Given the description of an element on the screen output the (x, y) to click on. 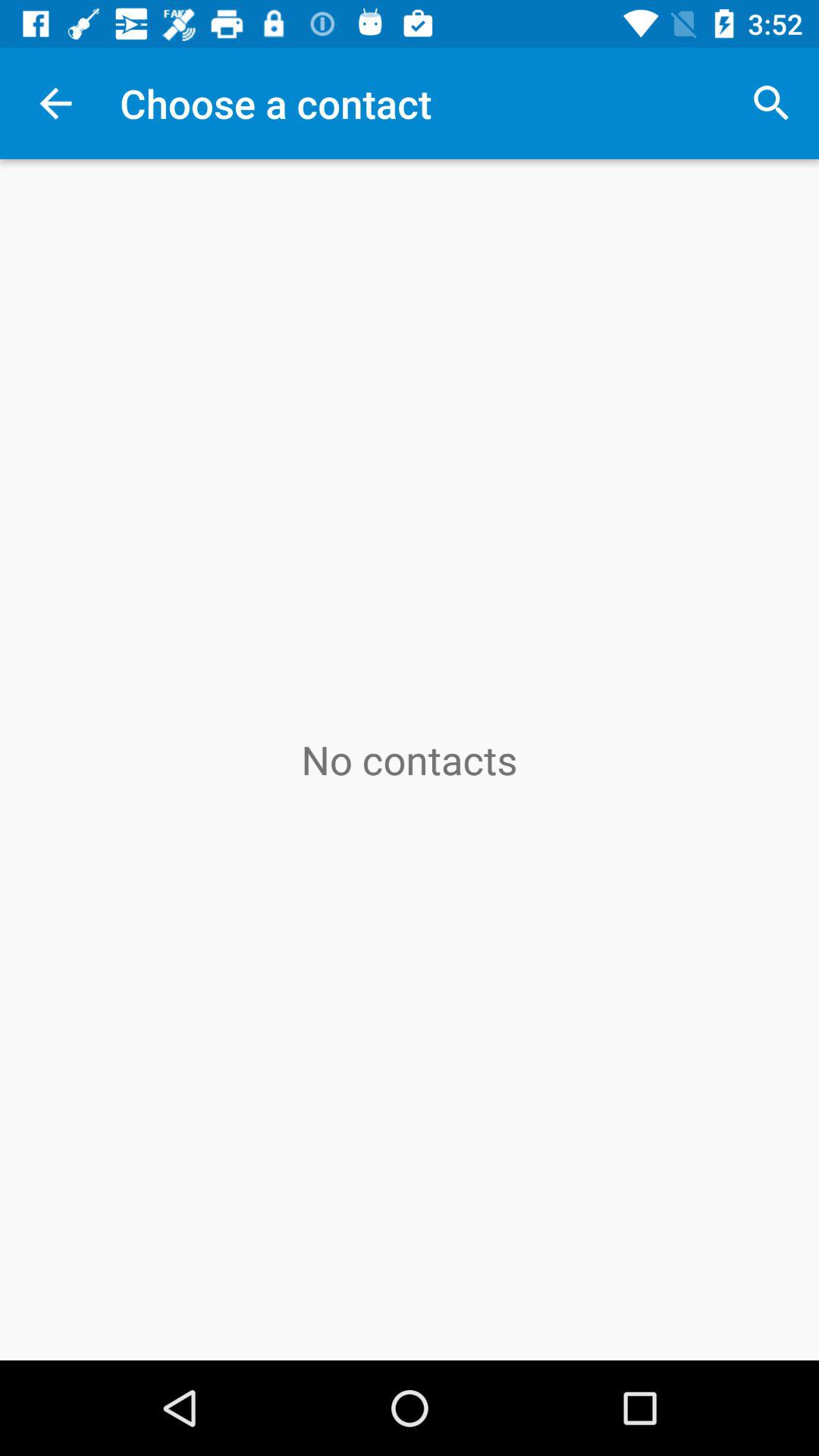
select the app next to choose a contact icon (771, 103)
